Given the description of an element on the screen output the (x, y) to click on. 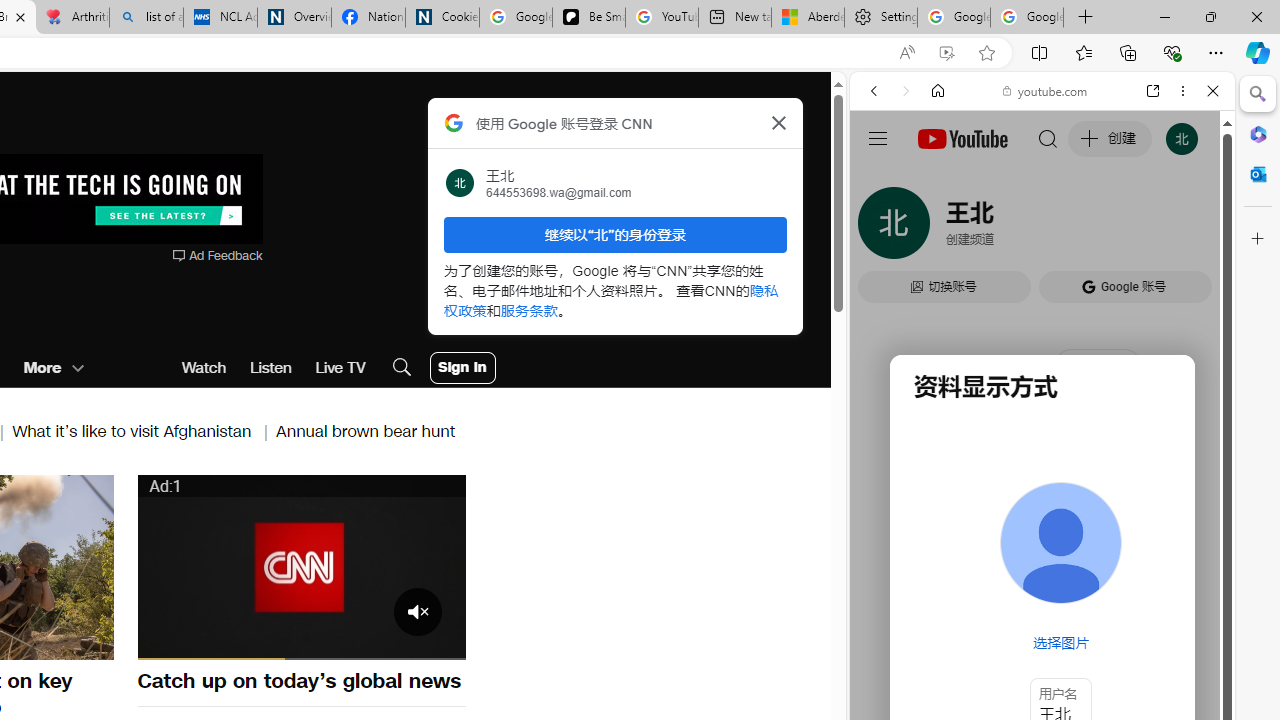
Google (1042, 494)
Search Filter, WEB (882, 228)
list of asthma inhalers uk - Search (146, 17)
Class: Bz112c Bz112c-r9oPif (778, 122)
Fullscreen (438, 642)
VIDEOS (1006, 228)
Web scope (882, 180)
Search Filter, Search Tools (1093, 228)
Global web icon (888, 288)
